Given the description of an element on the screen output the (x, y) to click on. 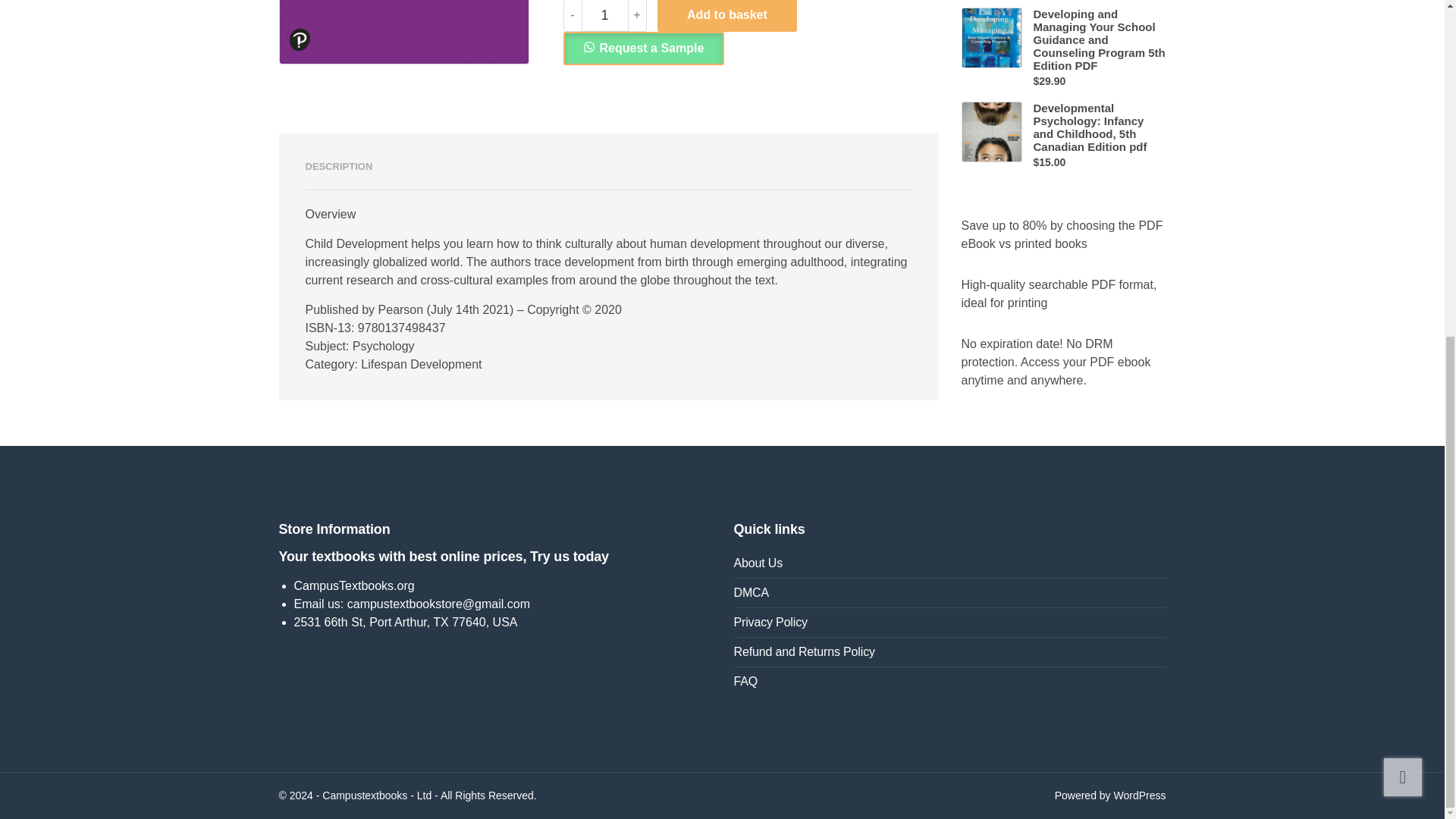
FAQ (949, 681)
Privacy Policy (949, 623)
Add to basket (727, 15)
About Us (949, 563)
Scroll to the top (1403, 211)
Request a Sample (642, 47)
Qty (604, 15)
Refund and Returns Policy (949, 652)
1 (604, 15)
DESCRIPTION (338, 166)
DMCA (949, 593)
Request a Sample (642, 48)
